Given the description of an element on the screen output the (x, y) to click on. 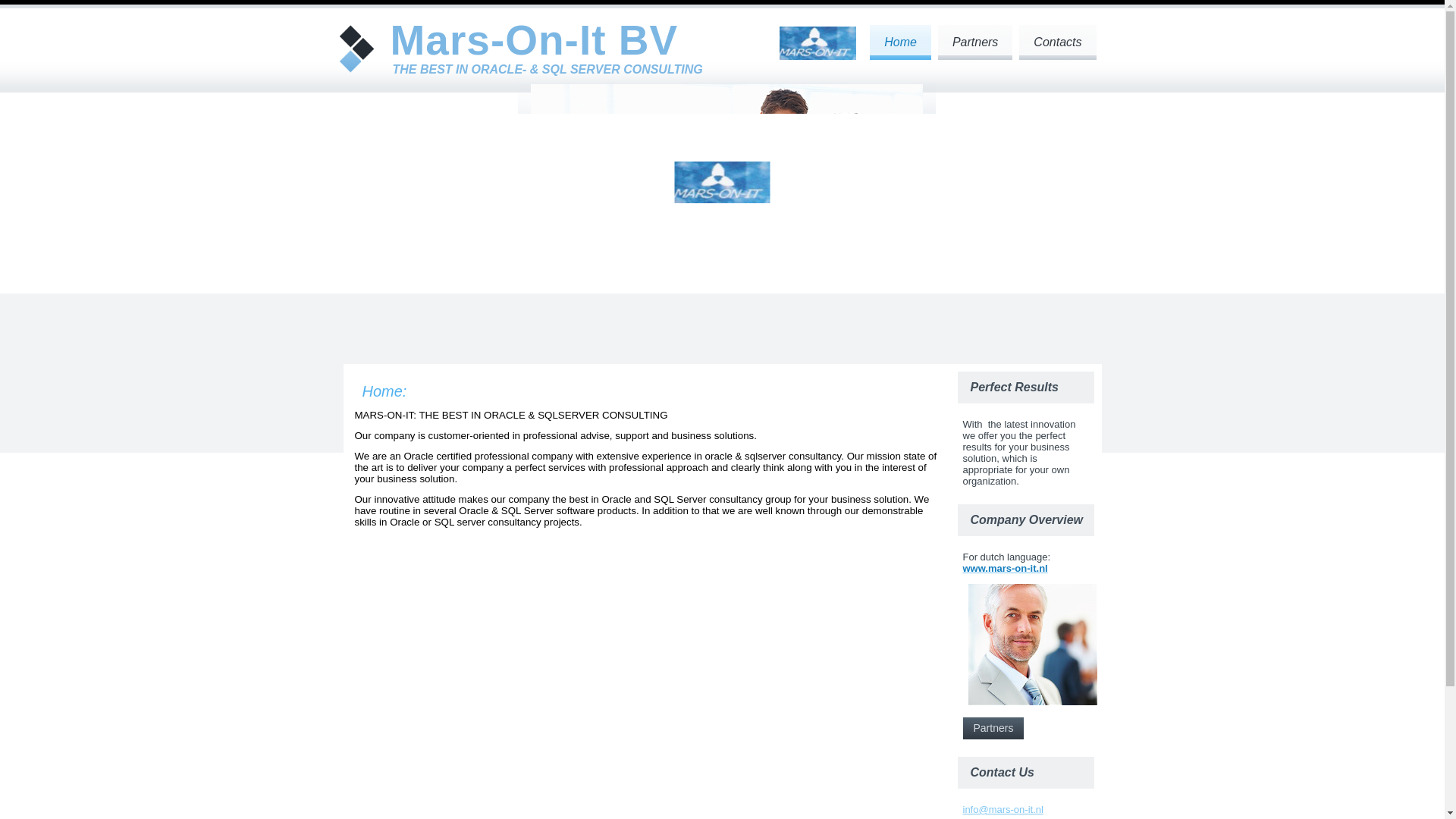
Partners (993, 728)
Home (900, 42)
Mars-On-It BV (534, 39)
Contacts (1057, 42)
www.mars-on-it.nl (1005, 568)
Home: (384, 391)
Partners (974, 42)
